Given the description of an element on the screen output the (x, y) to click on. 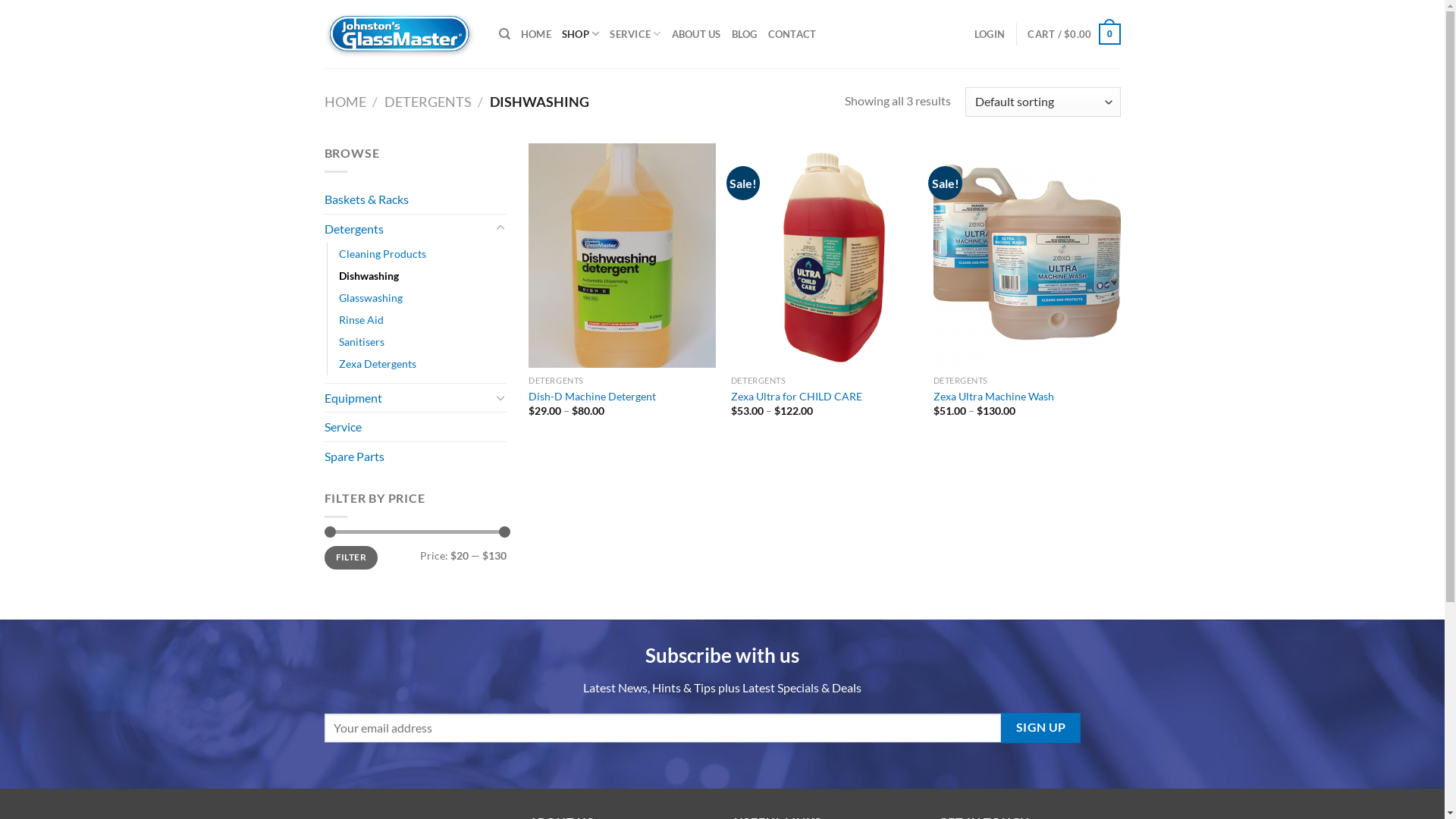
ABOUT US Element type: text (696, 33)
HOME Element type: text (345, 101)
Zexa Ultra Machine Wash Element type: text (993, 396)
FILTER Element type: text (351, 557)
Dishwashing Element type: text (368, 275)
DETERGENTS Element type: text (427, 101)
Sign up Element type: text (1040, 727)
Sanitisers Element type: text (360, 341)
SHOP Element type: text (580, 33)
Zexa Detergents Element type: text (376, 363)
CONTACT Element type: text (792, 33)
Zexa Ultra for CHILD CARE Element type: text (796, 396)
Detergents Element type: text (407, 228)
Baskets & Racks Element type: text (415, 199)
BLOG Element type: text (744, 33)
Glasswashing Element type: text (369, 297)
CART / $0.00
0 Element type: text (1073, 33)
SERVICE Element type: text (634, 33)
LOGIN Element type: text (989, 33)
Spare Parts Element type: text (415, 456)
Cleaning Products Element type: text (381, 253)
Equipment Element type: text (407, 397)
Dish-D Machine Detergent Element type: text (591, 396)
Service Element type: text (415, 426)
Rinse Aid Element type: text (360, 319)
HOME Element type: text (535, 33)
